Given the description of an element on the screen output the (x, y) to click on. 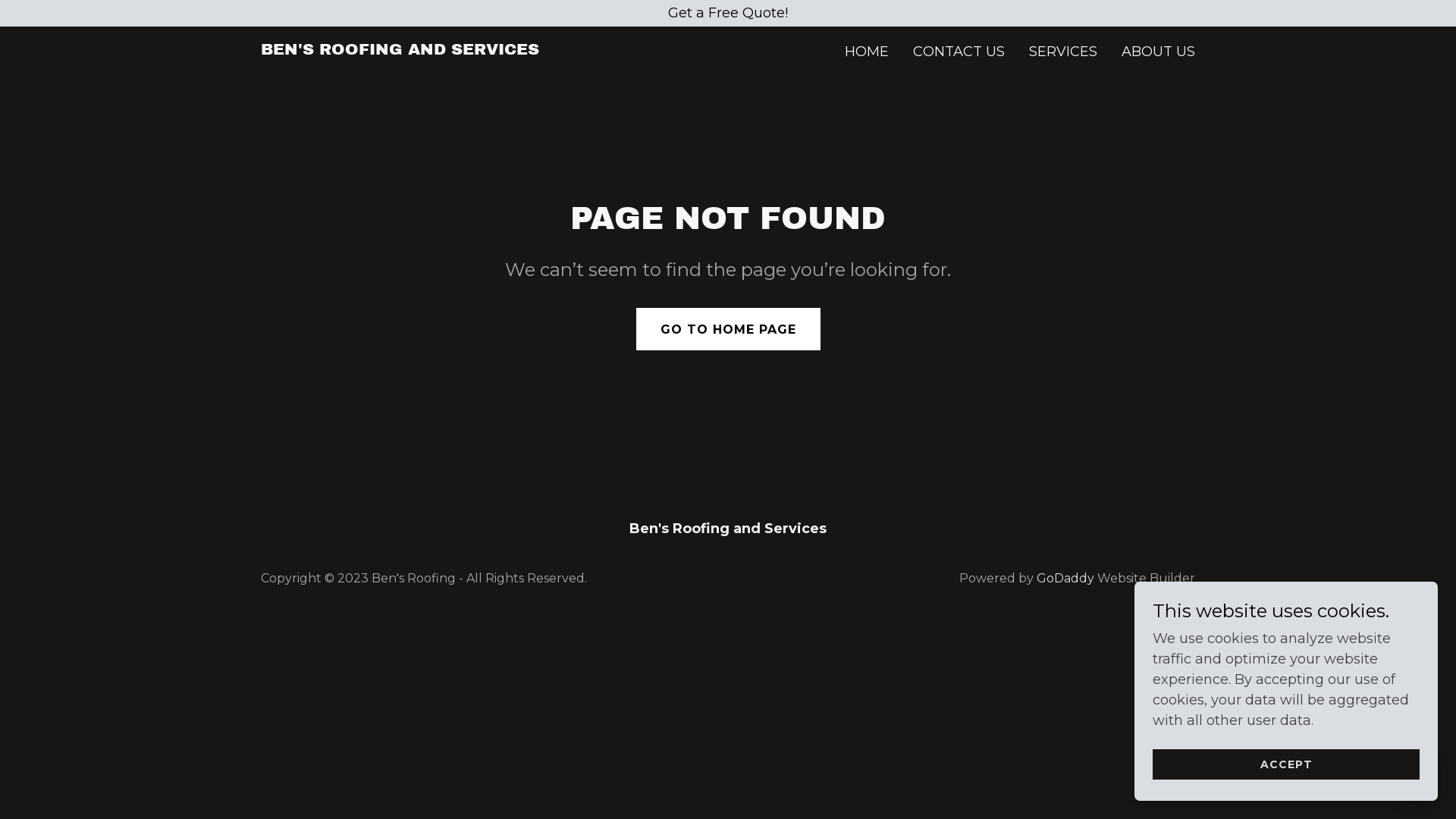
BEN'S ROOFING AND SERVICES Element type: text (399, 49)
GO TO HOME PAGE Element type: text (727, 328)
GoDaddy Element type: text (1065, 578)
CONTACT US Element type: text (958, 51)
ABOUT US Element type: text (1158, 51)
HOME Element type: text (866, 51)
SERVICES Element type: text (1062, 51)
ACCEPT Element type: text (1285, 764)
